Given the description of an element on the screen output the (x, y) to click on. 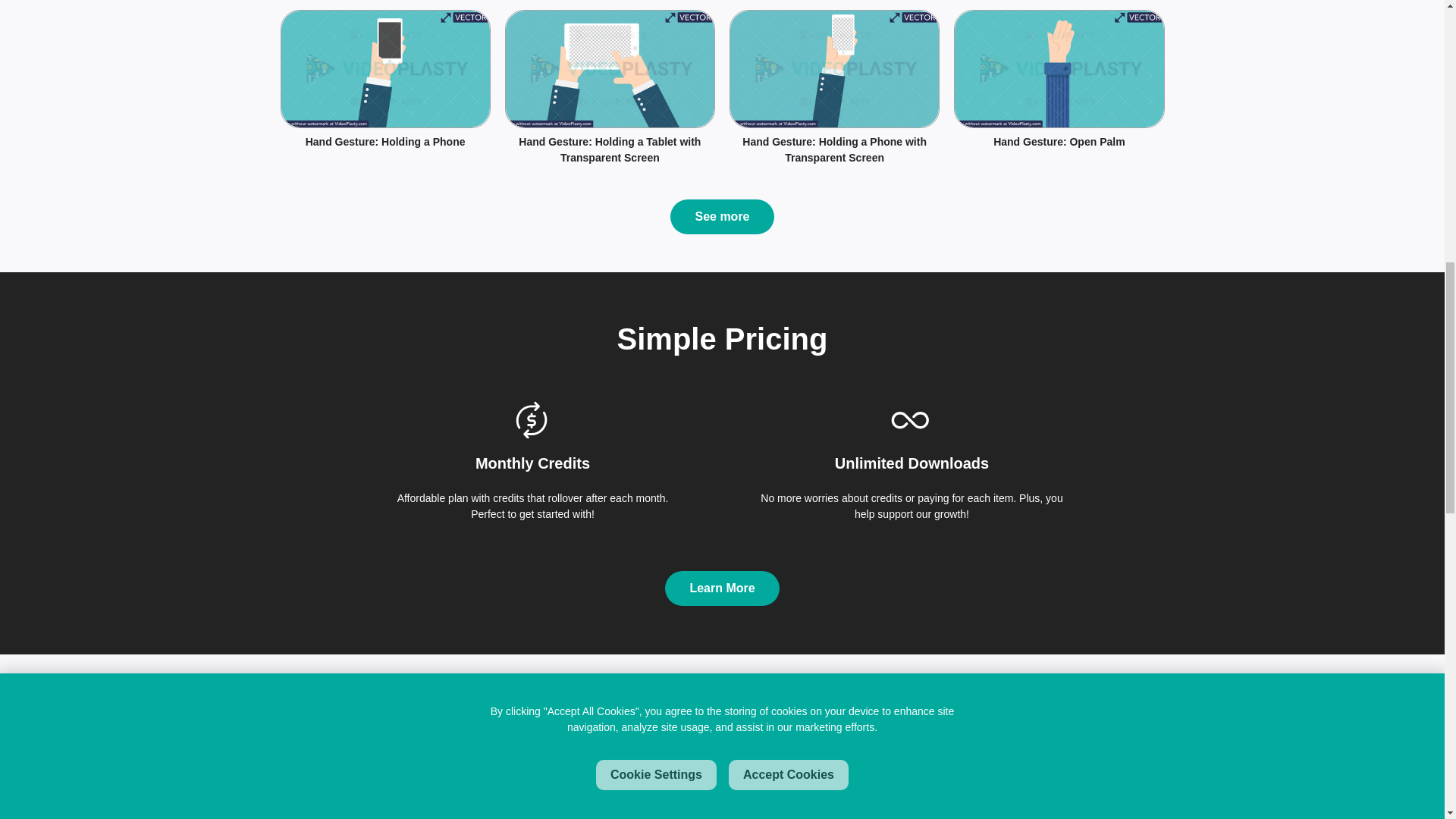
Hand Gesture: Open Palm (1058, 141)
Hand Gesture: Holding a Phone (385, 141)
Hand Gesture: Holding a Tablet with Transparent Screen (609, 150)
Hand Gesture: Holding a Phone with Transparent Screen (834, 150)
